Given the description of an element on the screen output the (x, y) to click on. 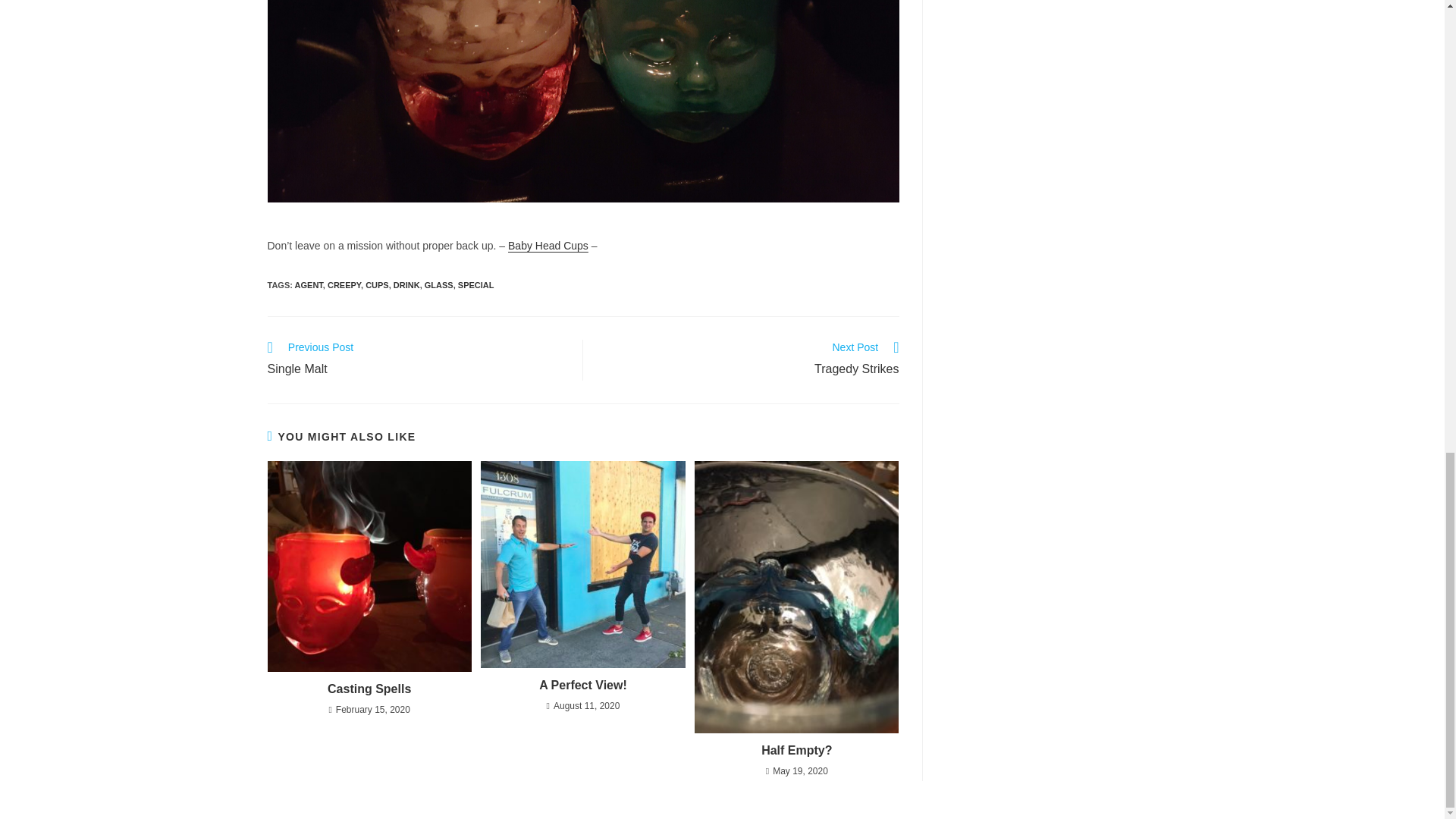
DRINK (406, 284)
SPECIAL (748, 359)
CUPS (476, 284)
GLASS (416, 359)
CREEPY (376, 284)
Baby Head Cups (438, 284)
AGENT (344, 284)
